Given the description of an element on the screen output the (x, y) to click on. 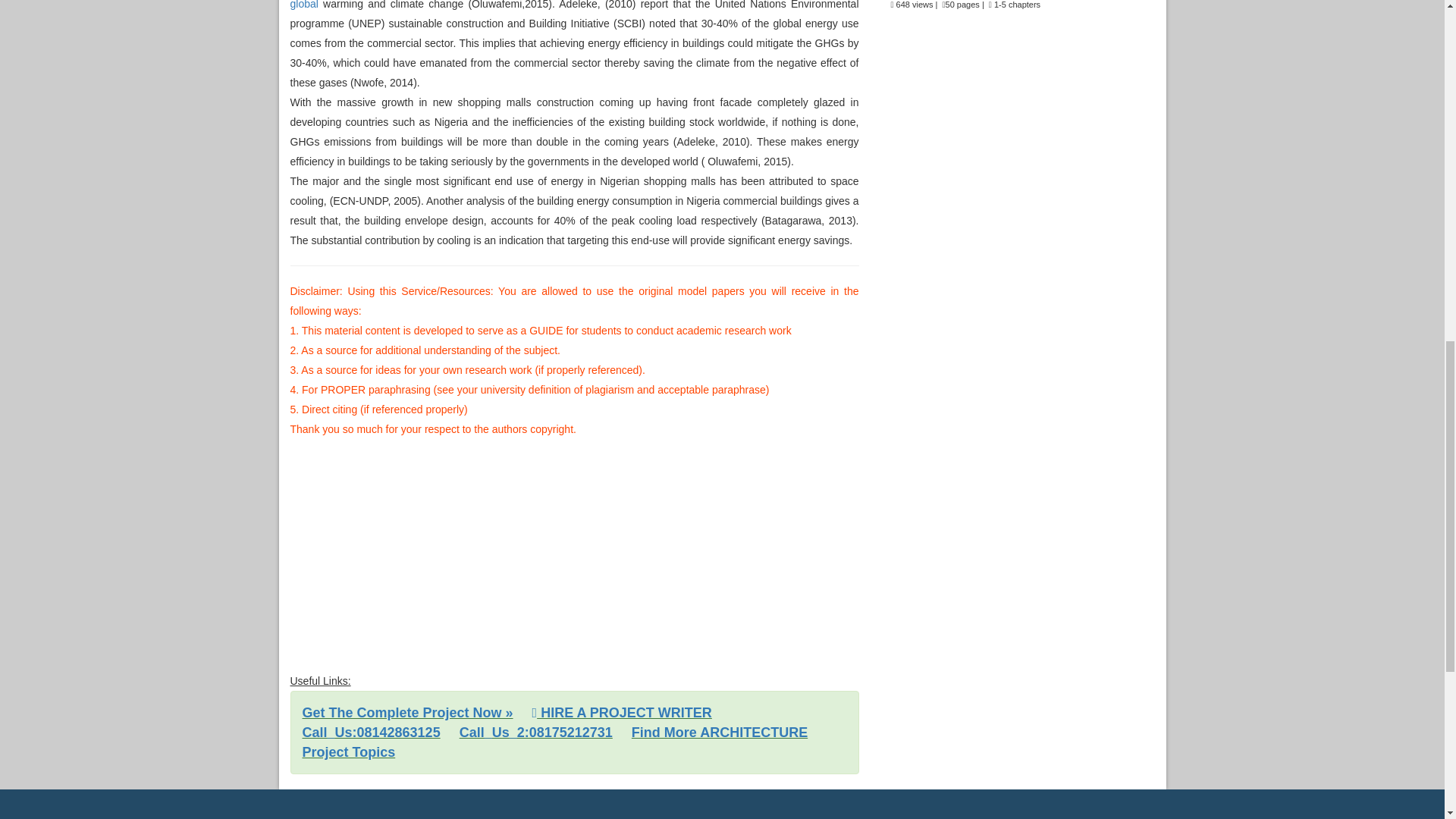
global (303, 4)
HIRE A PROJECT WRITER (621, 712)
Find More ARCHITECTURE Project Topics (554, 742)
